Given the description of an element on the screen output the (x, y) to click on. 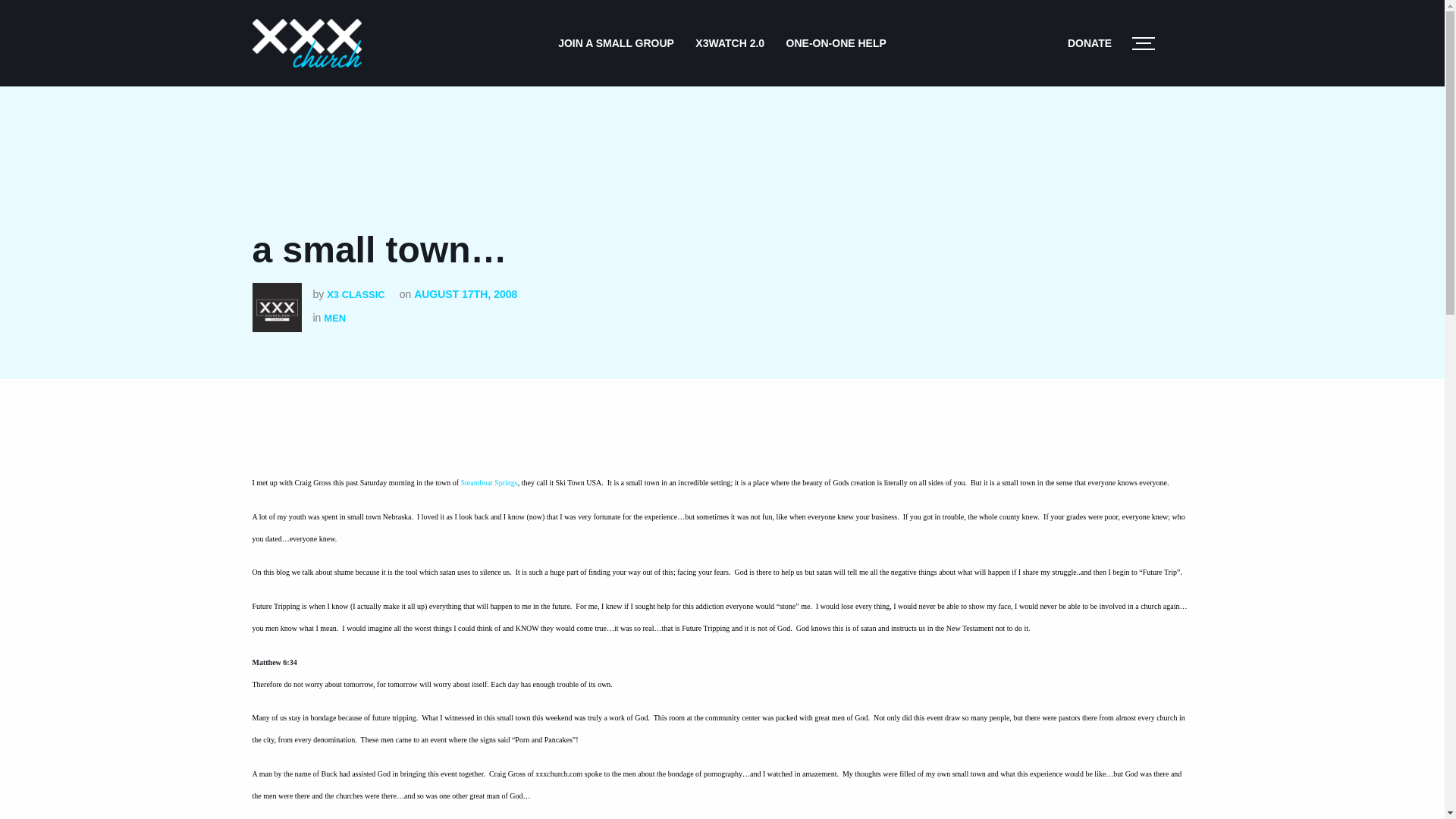
ONE-ON-ONE HELP (836, 43)
JOIN A SMALL GROUP (615, 43)
X3WATCH 2.0 (729, 43)
DONATE (1089, 43)
